Given the description of an element on the screen output the (x, y) to click on. 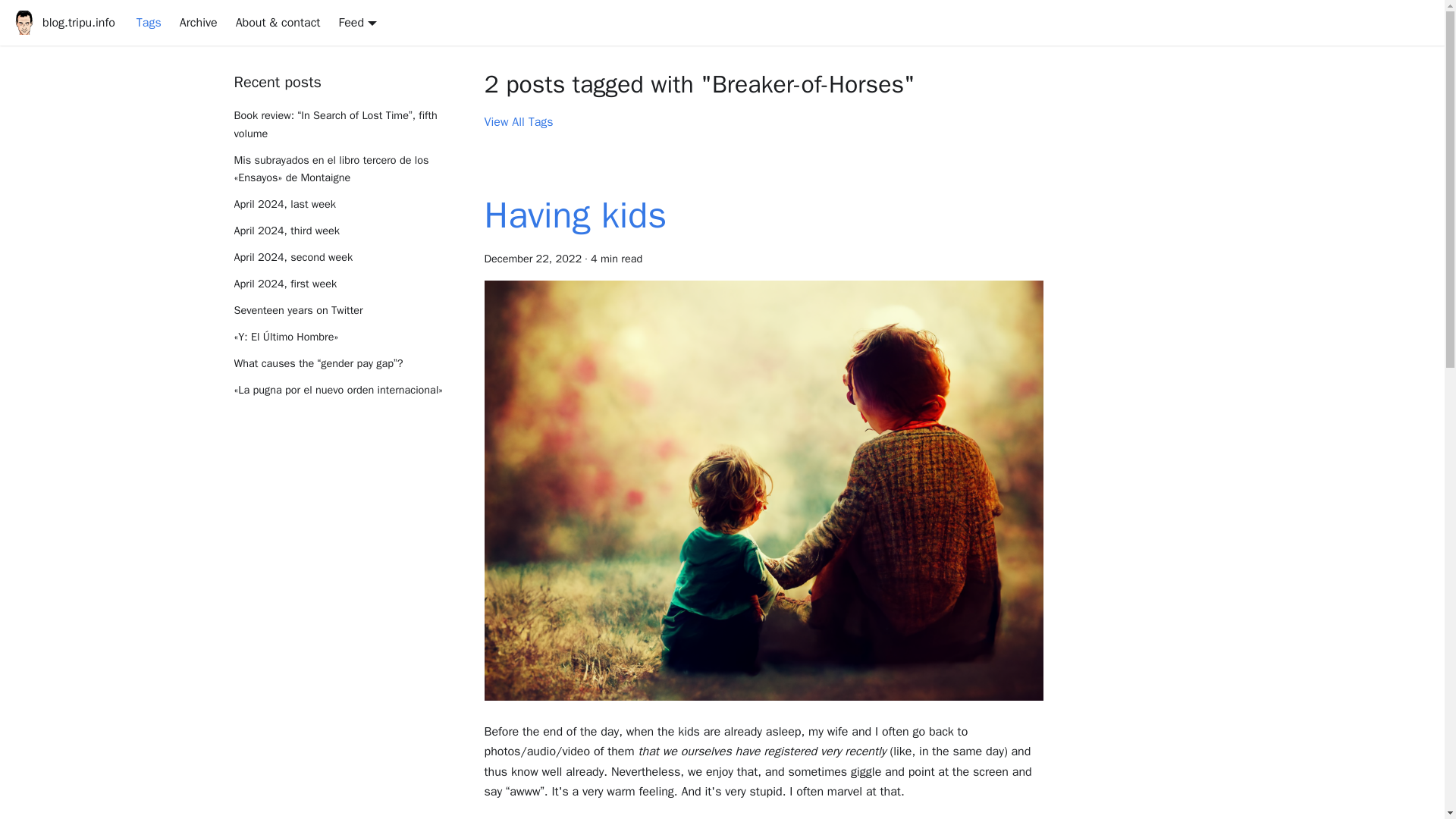
April 2024, first week (346, 284)
Feed (356, 22)
Archive (198, 22)
View All Tags (518, 121)
April 2024, second week (346, 257)
Seventeen years on Twitter (346, 311)
blog.tripu.info (63, 22)
Having kids (574, 215)
Tags (149, 22)
April 2024, third week (346, 230)
April 2024, last week (346, 204)
